Given the description of an element on the screen output the (x, y) to click on. 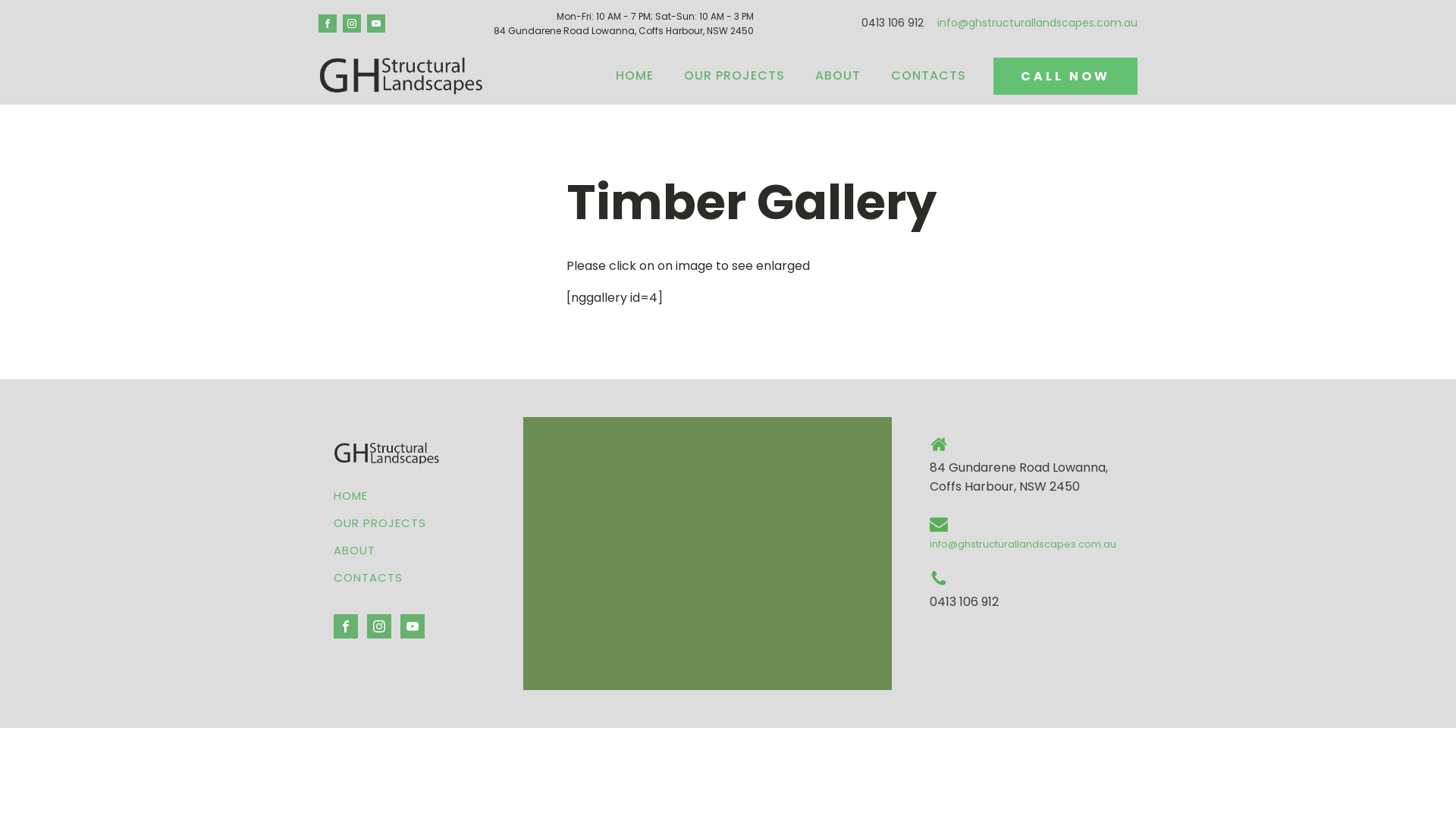
OUR PROJECTS Element type: text (379, 522)
ABOUT Element type: text (837, 75)
OUR PROJECTS Element type: text (734, 75)
CONTACTS Element type: text (379, 577)
info@ghstructurallandscapes.com.au Element type: text (1037, 23)
CONTACTS Element type: text (928, 75)
ABOUT Element type: text (379, 550)
0413 106 912 Element type: text (892, 23)
HOME Element type: text (634, 75)
0413 106 912 Element type: text (963, 601)
info@ghstructurallandscapes.com.au Element type: text (1022, 544)
CALL NOW Element type: text (1065, 75)
HOME Element type: text (379, 495)
